Given the description of an element on the screen output the (x, y) to click on. 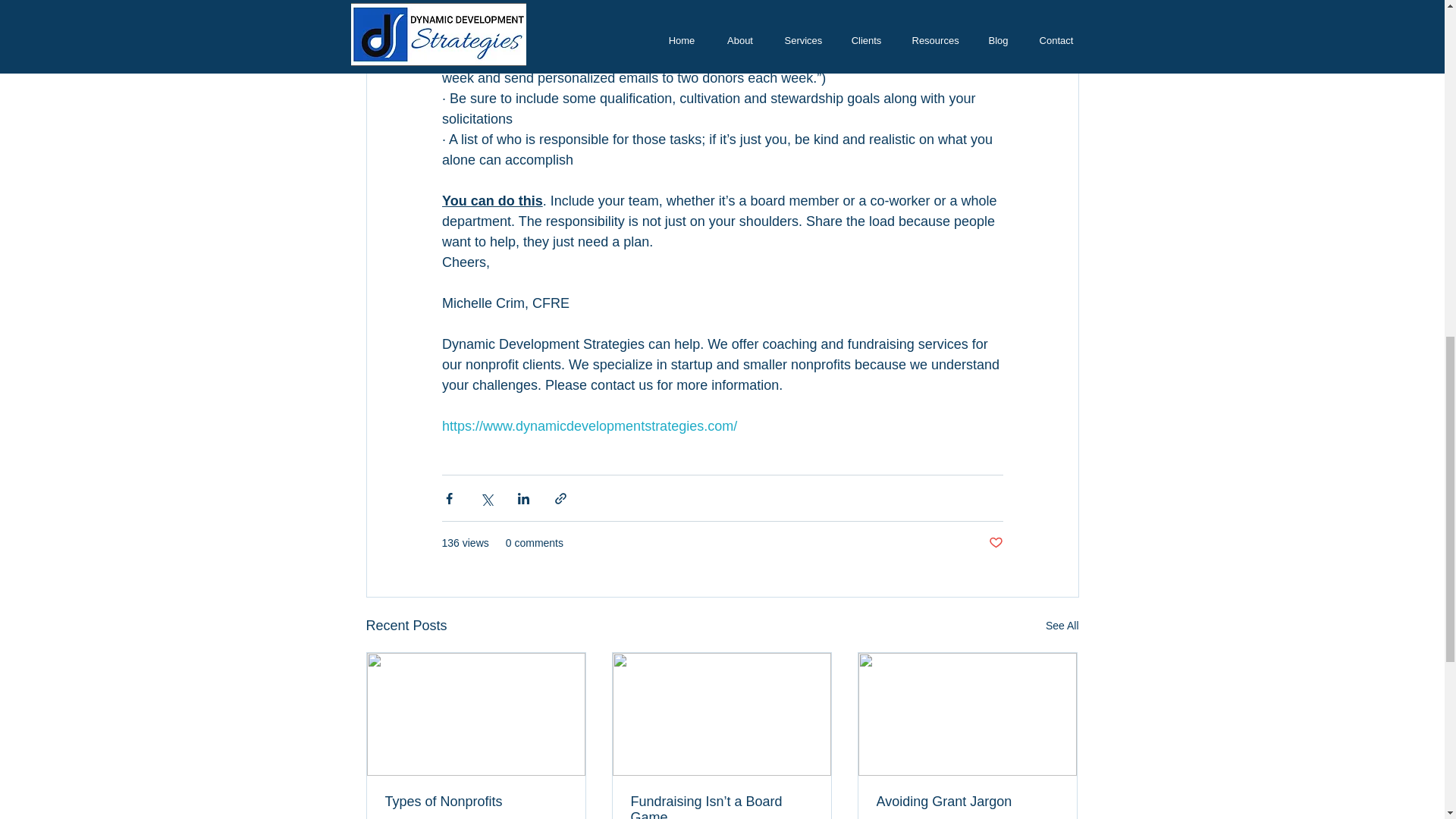
Avoiding Grant Jargon (967, 801)
Post not marked as liked (995, 543)
See All (1061, 626)
Types of Nonprofits (476, 801)
